Given the description of an element on the screen output the (x, y) to click on. 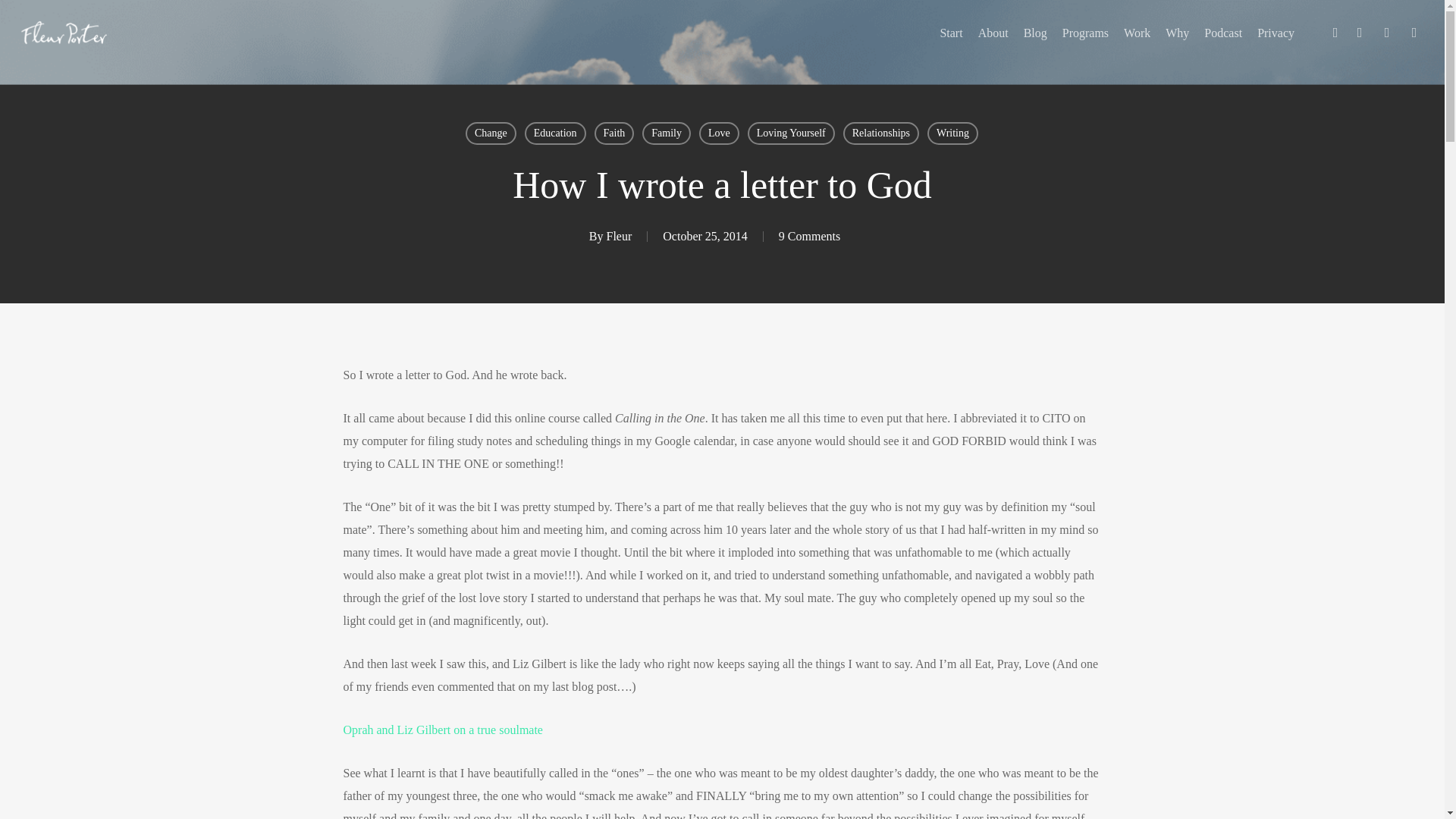
Privacy (1275, 33)
youtube (1386, 32)
Loving Yourself (791, 133)
Faith (614, 133)
Podcast (1222, 33)
Work (1136, 33)
Relationships (880, 133)
Oprah and Liz Gilbert on a true soulmate (441, 729)
9 Comments (809, 236)
Change (490, 133)
